Given the description of an element on the screen output the (x, y) to click on. 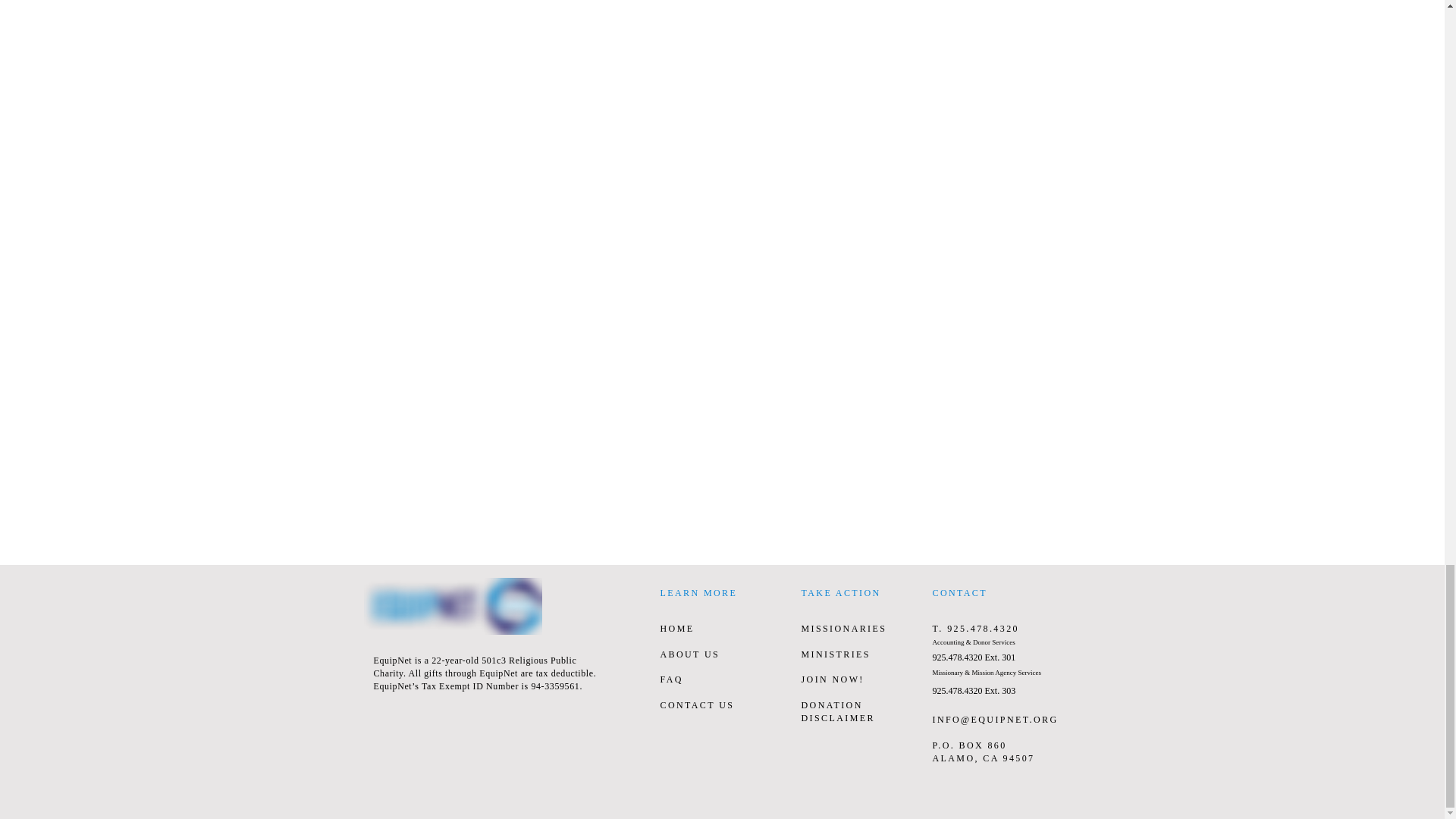
DISCLAIMER (837, 717)
ABOUT US (689, 654)
JOIN NOW! (831, 679)
HOME (676, 628)
DONATION (830, 705)
CONTACT US (696, 705)
MISSIONARIES (843, 628)
MINISTRIES (834, 654)
FAQ (670, 679)
